Given the description of an element on the screen output the (x, y) to click on. 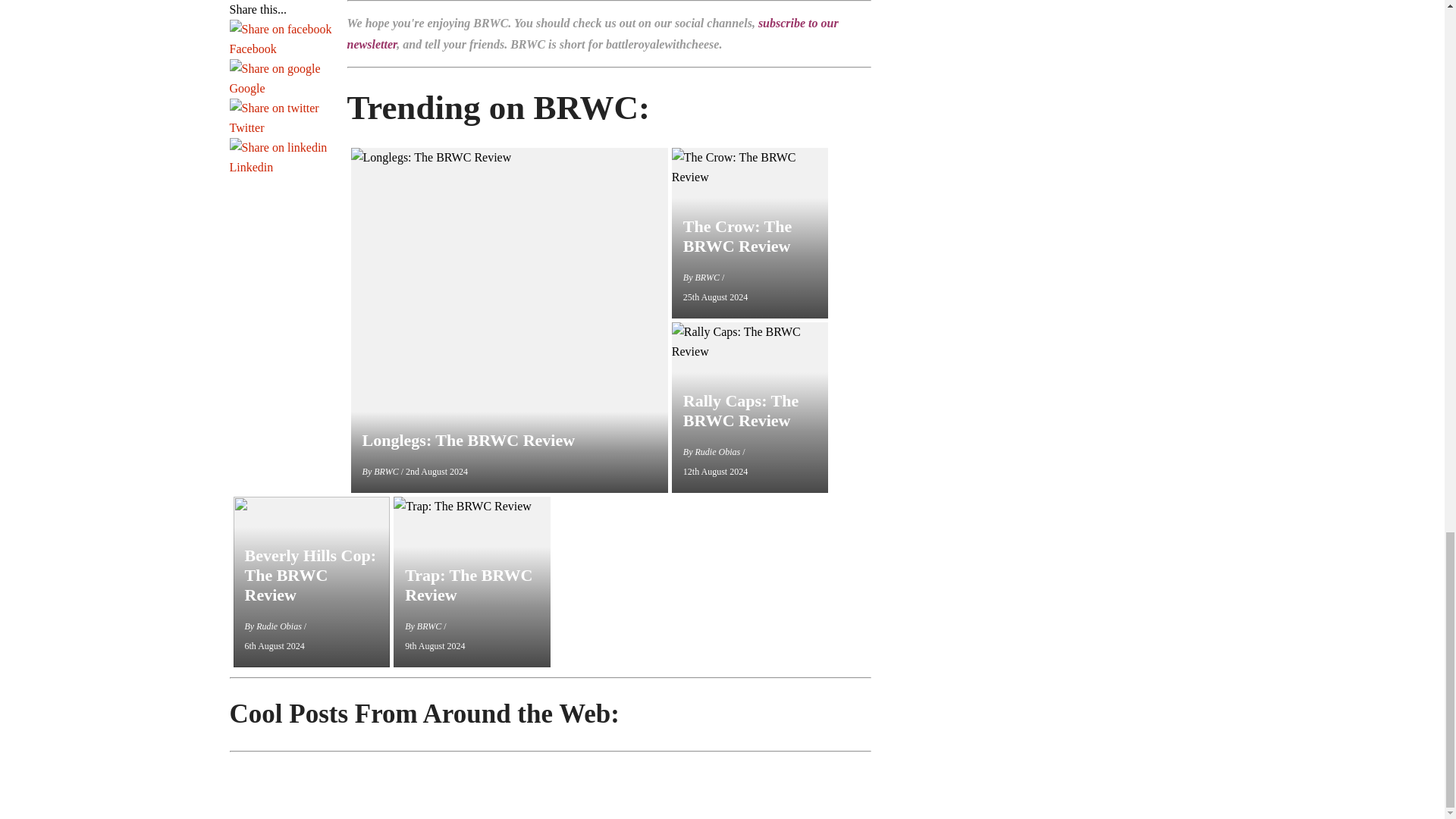
twitter (273, 107)
Google (279, 88)
Linkedin (279, 167)
linkedin (277, 148)
google (274, 68)
Twitter (279, 127)
facebook (279, 29)
Facebook (279, 48)
